Given the description of an element on the screen output the (x, y) to click on. 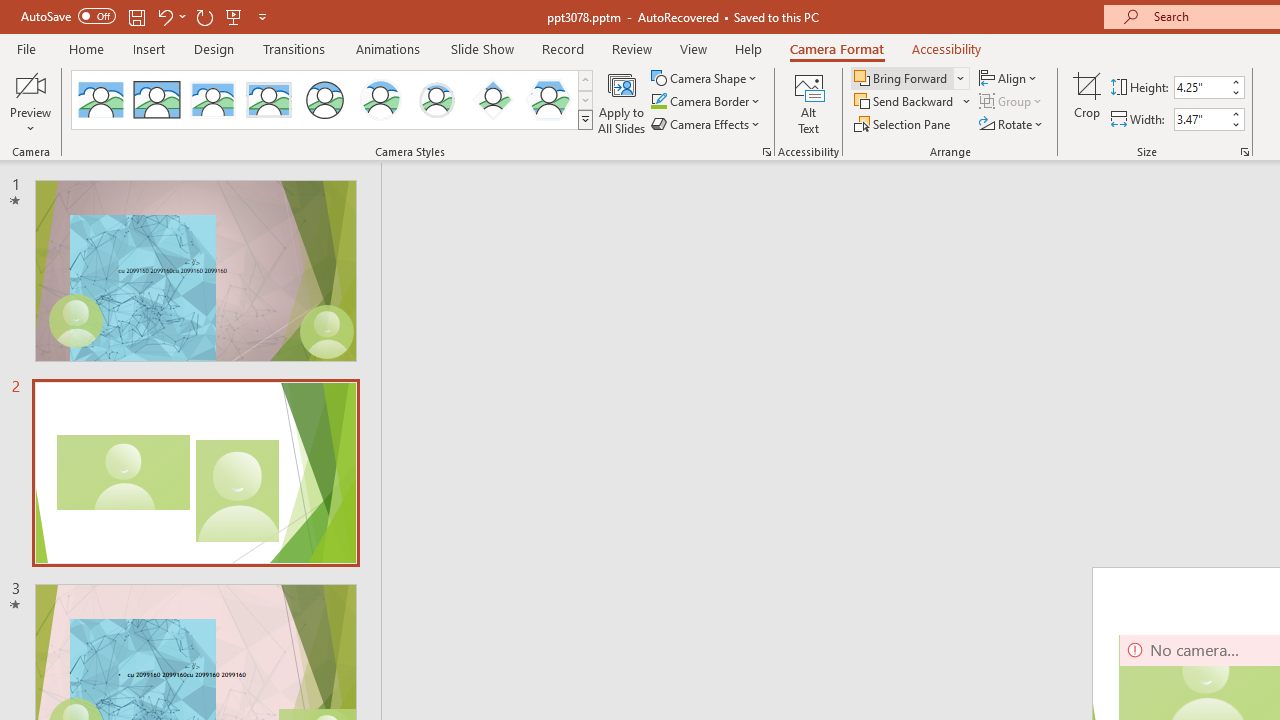
Camera Border (706, 101)
Send Backward (905, 101)
Cameo Width (1201, 119)
Crop (1087, 102)
AutomationID: CameoStylesGallery (333, 99)
